Given the description of an element on the screen output the (x, y) to click on. 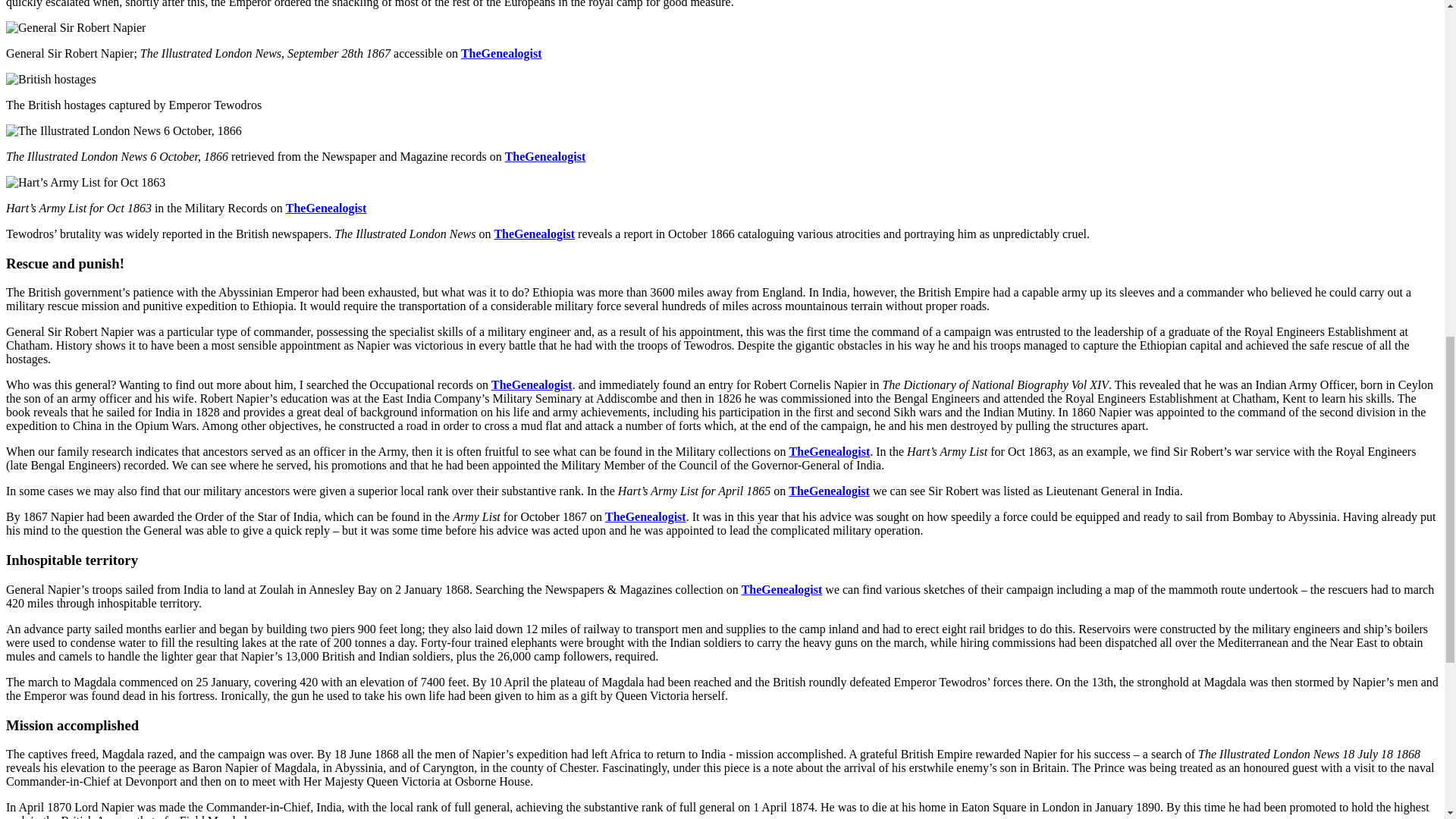
TheGenealogist (781, 589)
TheGenealogist (829, 451)
TheGenealogist (325, 207)
TheGenealogist (532, 384)
TheGenealogist (545, 155)
TheGenealogist (501, 52)
TheGenealogist (645, 516)
TheGenealogist (829, 490)
TheGenealogist (534, 233)
